Given the description of an element on the screen output the (x, y) to click on. 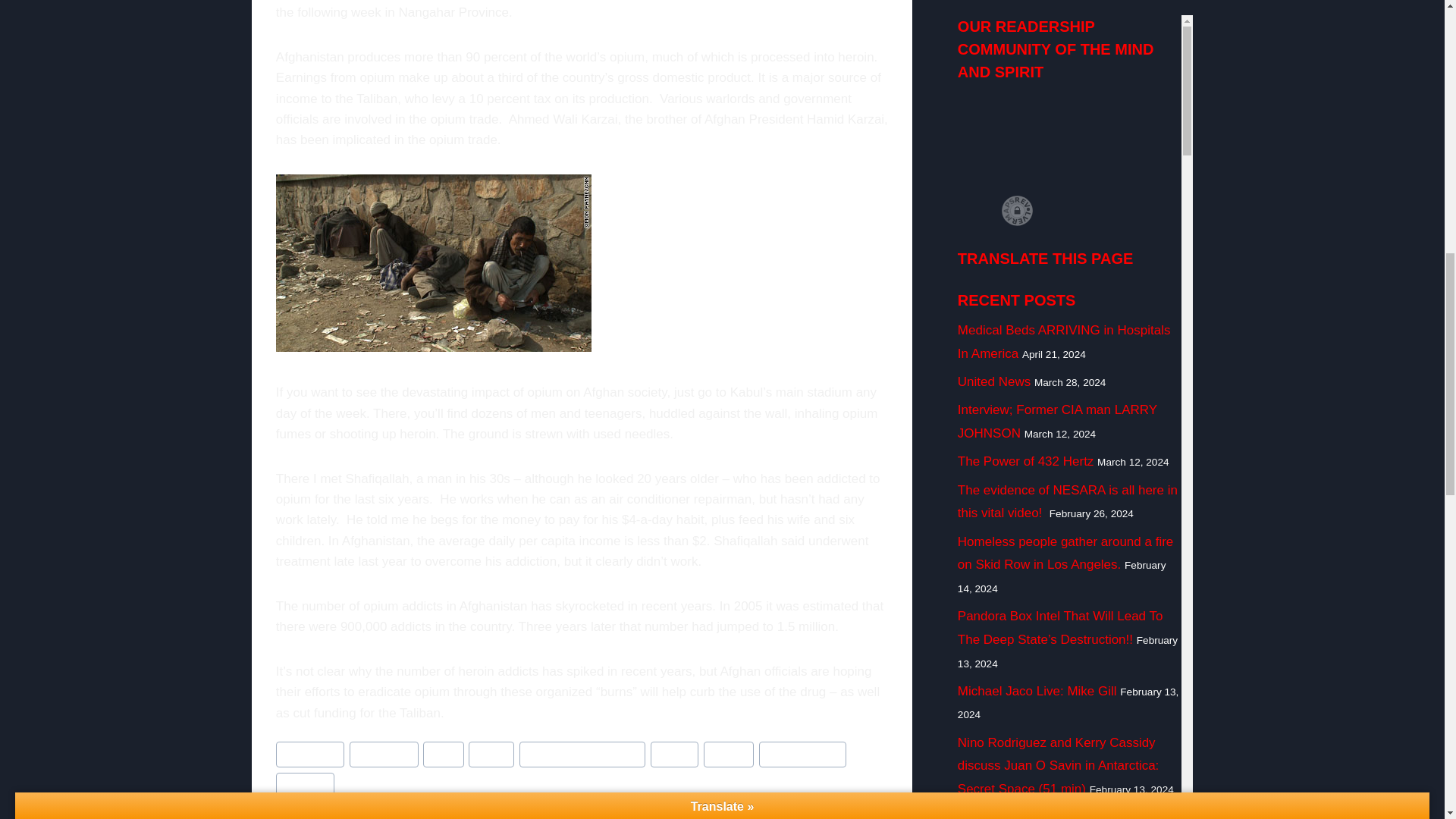
opium (674, 755)
gross domestic product (582, 755)
warlords (305, 786)
burn (443, 755)
Afghanitan (384, 755)
taliban (728, 755)
United Nations (801, 755)
drugs (490, 755)
90 percent (309, 755)
